Given the description of an element on the screen output the (x, y) to click on. 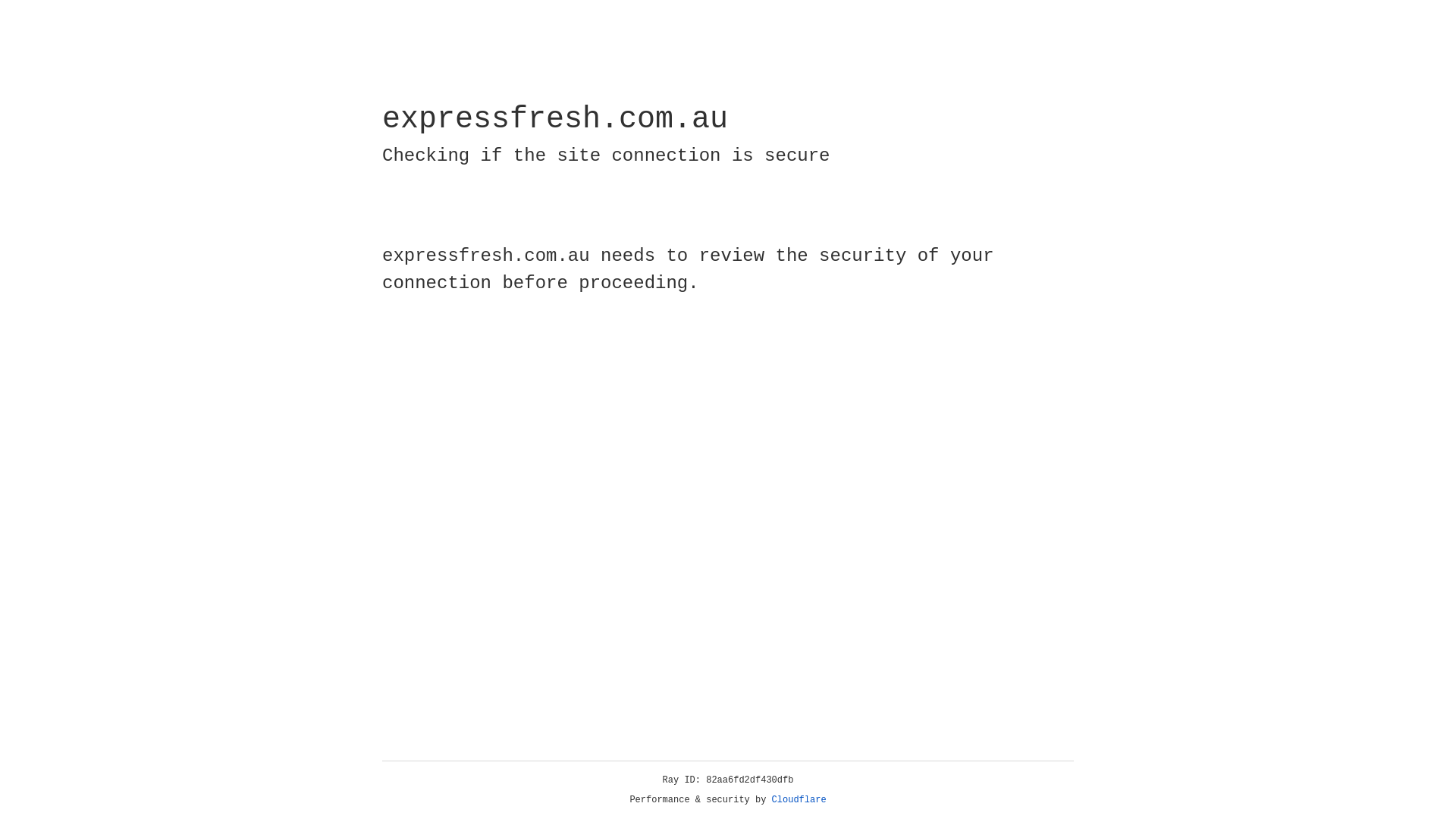
Cloudflare Element type: text (798, 799)
